Given the description of an element on the screen output the (x, y) to click on. 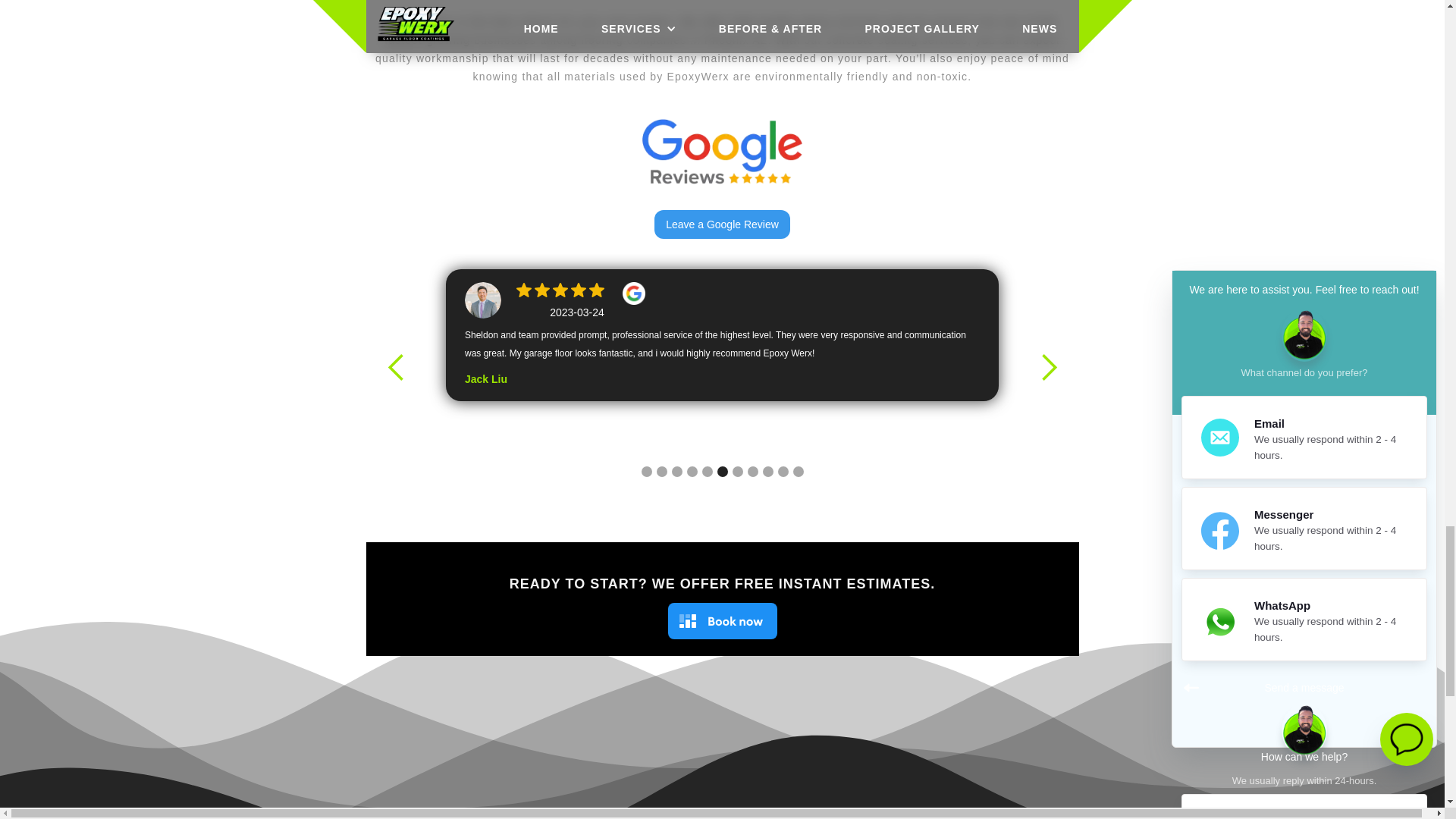
Leave a Google Review (721, 224)
